Given the description of an element on the screen output the (x, y) to click on. 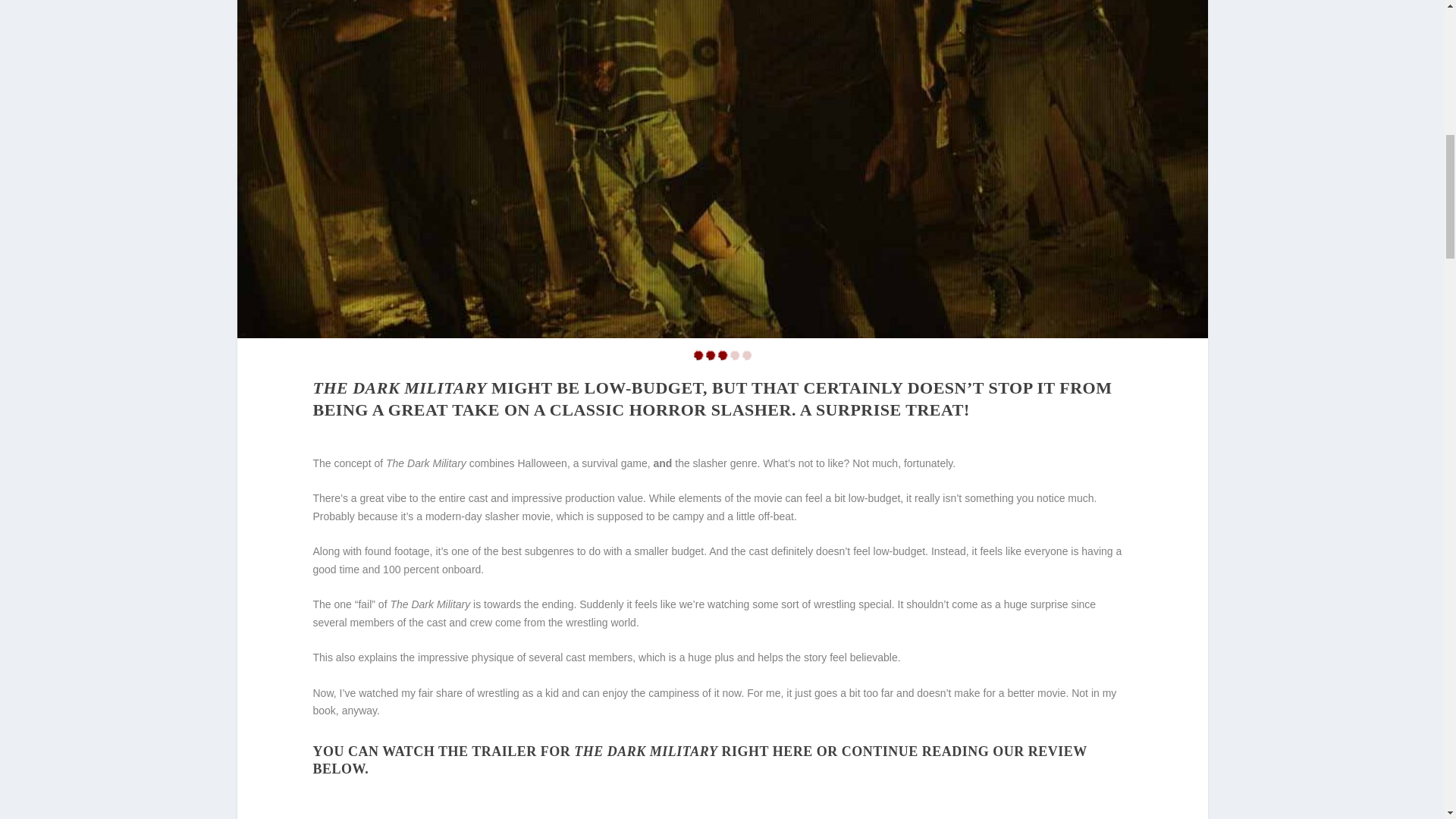
3 out of 5 stars (721, 357)
